Given the description of an element on the screen output the (x, y) to click on. 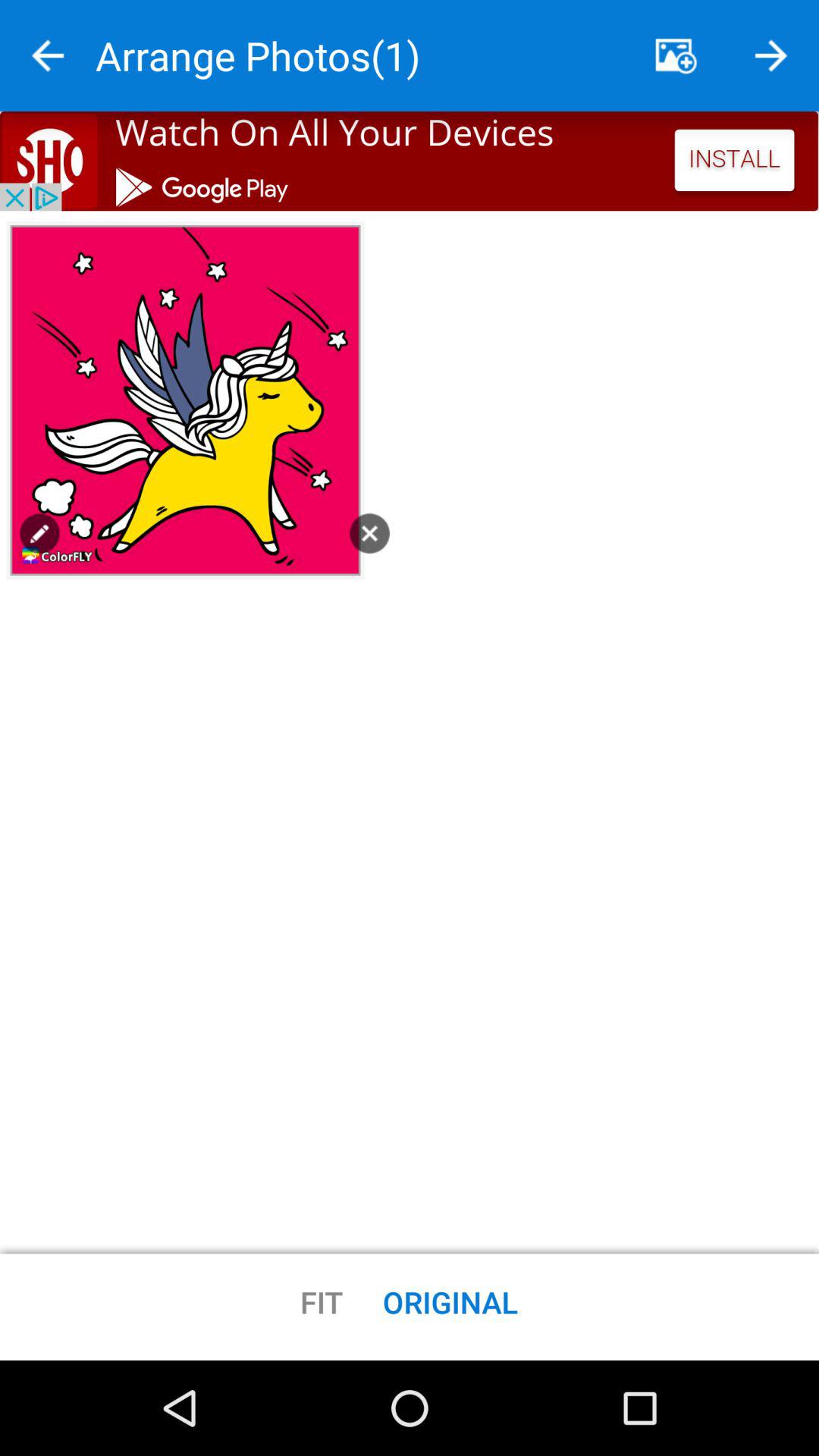
view advertisement (409, 161)
